Given the description of an element on the screen output the (x, y) to click on. 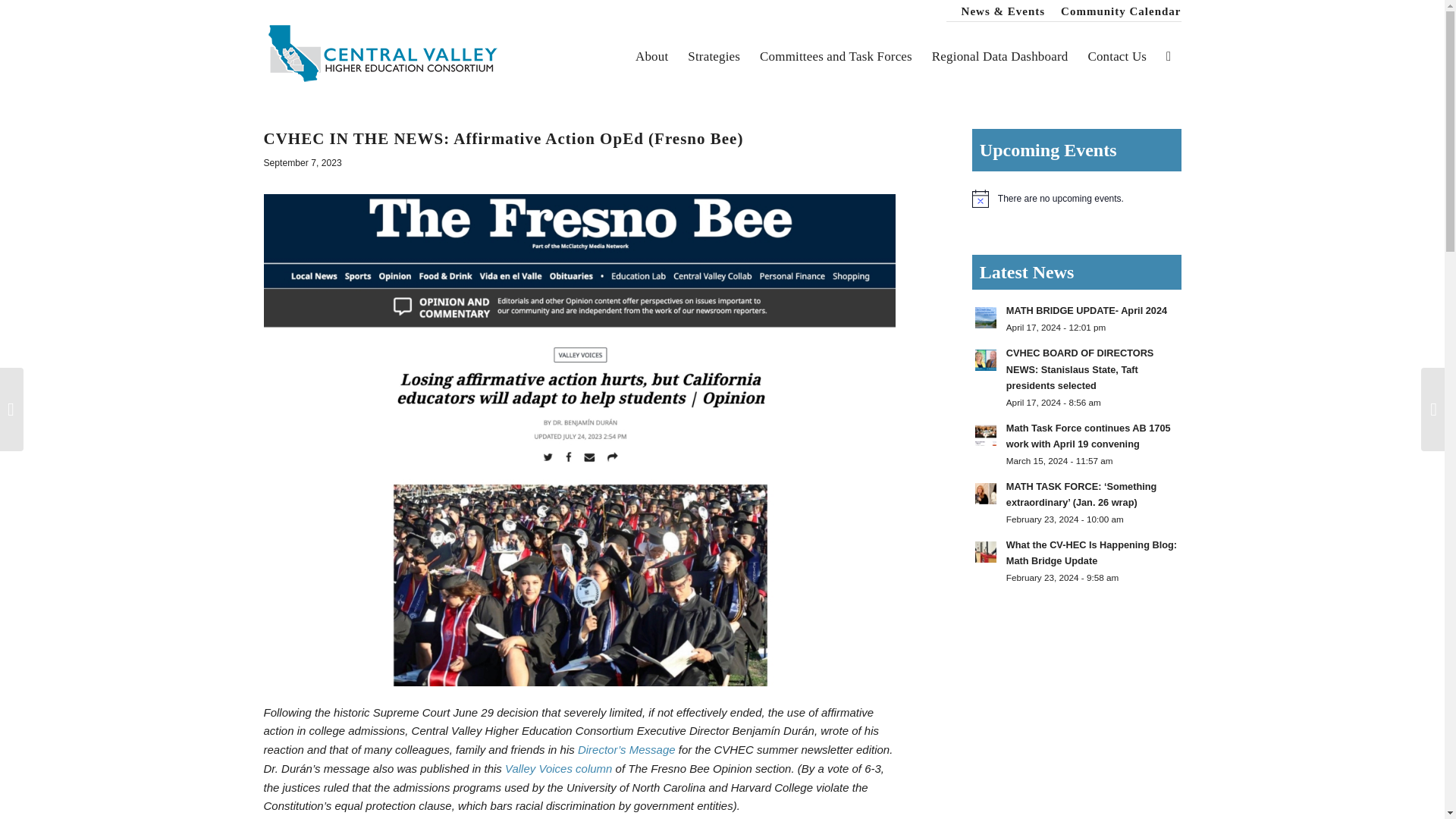
Strategies (713, 56)
About (652, 56)
Read: MATH BRIDGE UPDATE- April 2024 (985, 317)
MATH BRIDGE UPDATE- April 2024 (1086, 310)
Regional Data Dashboard (999, 56)
Valley Voices column (558, 768)
What the CV-HEC Is Happening Blog: Math Bridge Update (1091, 552)
Read: MATH BRIDGE UPDATE- April 2024 (1086, 310)
Committees and Task Forces (835, 56)
